Given the description of an element on the screen output the (x, y) to click on. 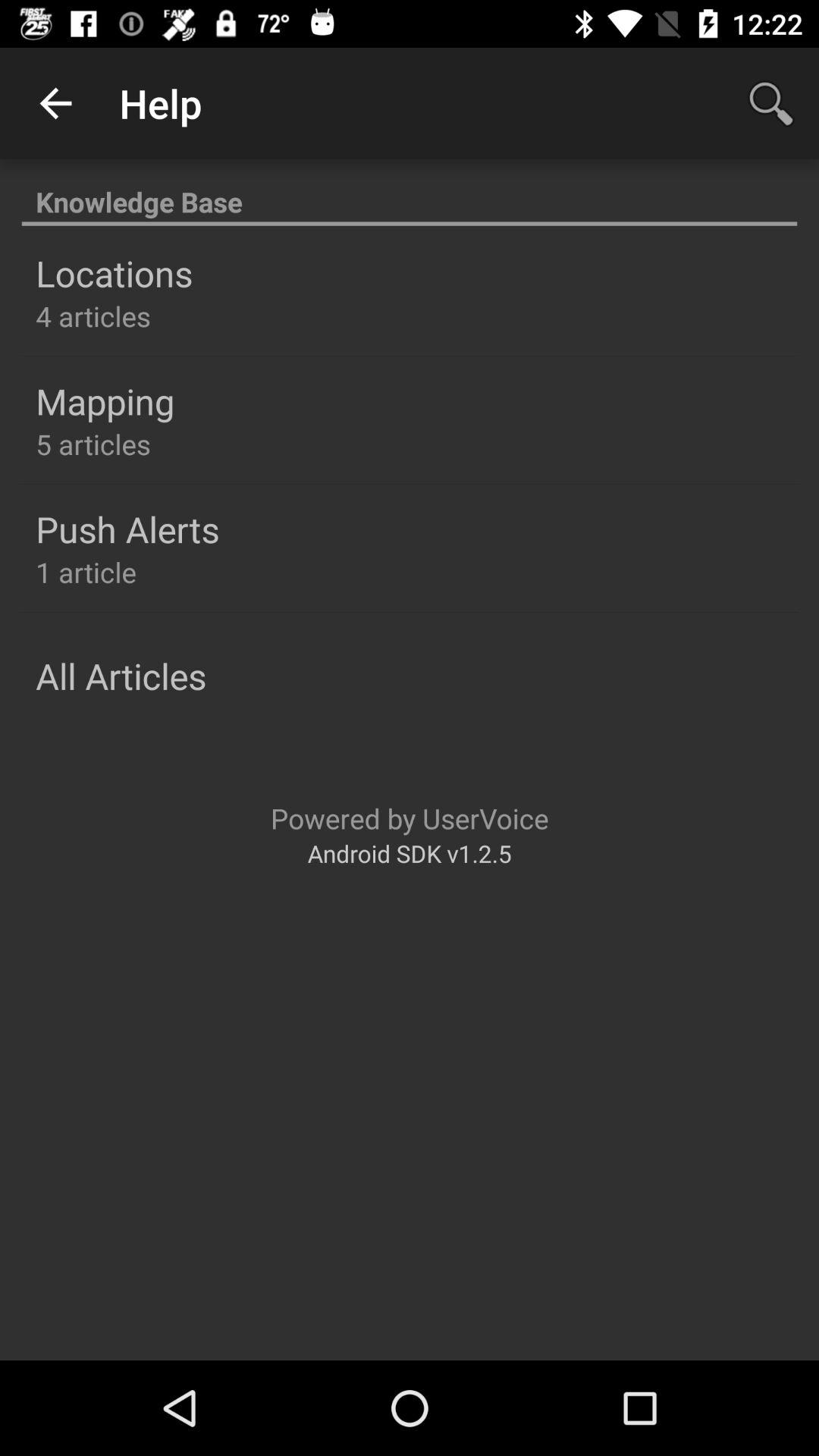
scroll to 5 articles item (92, 443)
